Given the description of an element on the screen output the (x, y) to click on. 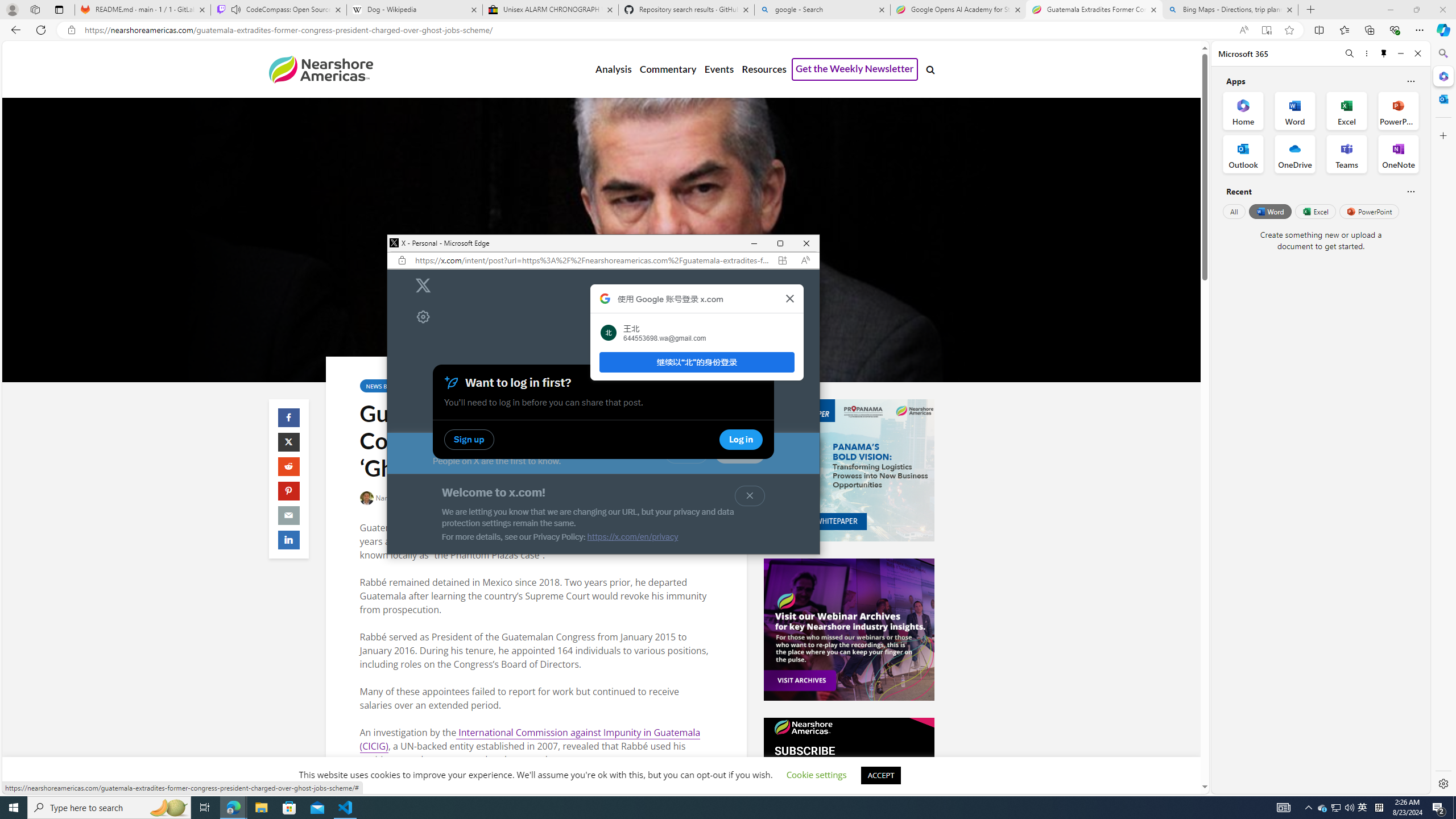
Excel Office App (1346, 110)
